Given the description of an element on the screen output the (x, y) to click on. 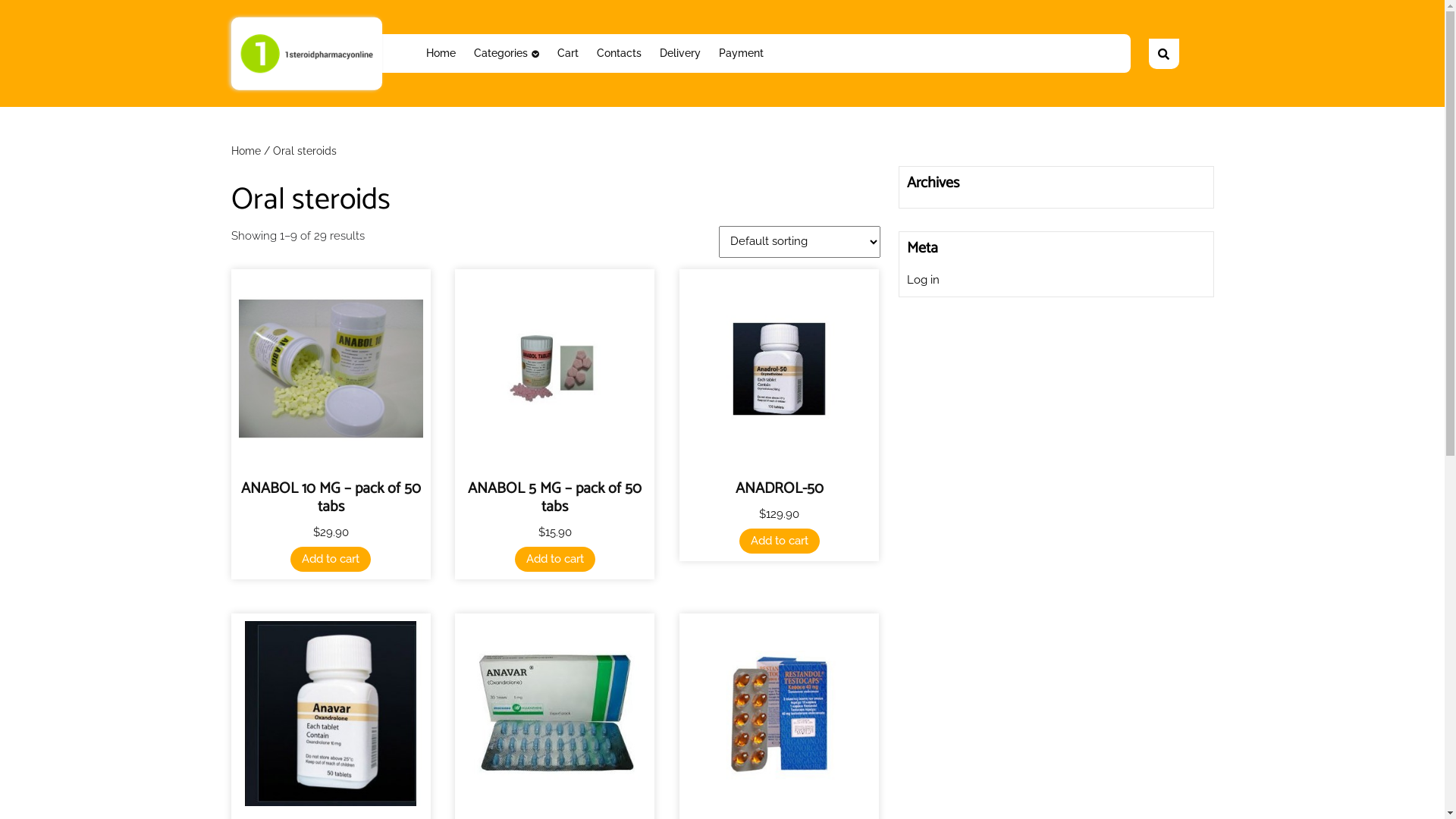
Cart Element type: text (567, 53)
ANADROL-50
$129.90 Element type: text (779, 411)
Home Element type: text (245, 150)
Categories Element type: text (506, 53)
Add to cart Element type: text (779, 541)
Add to cart Element type: text (330, 559)
Log in Element type: text (922, 279)
Payment Element type: text (741, 53)
Add to cart Element type: text (554, 559)
Delivery Element type: text (680, 53)
Contacts Element type: text (619, 53)
Home Element type: text (440, 53)
